Given the description of an element on the screen output the (x, y) to click on. 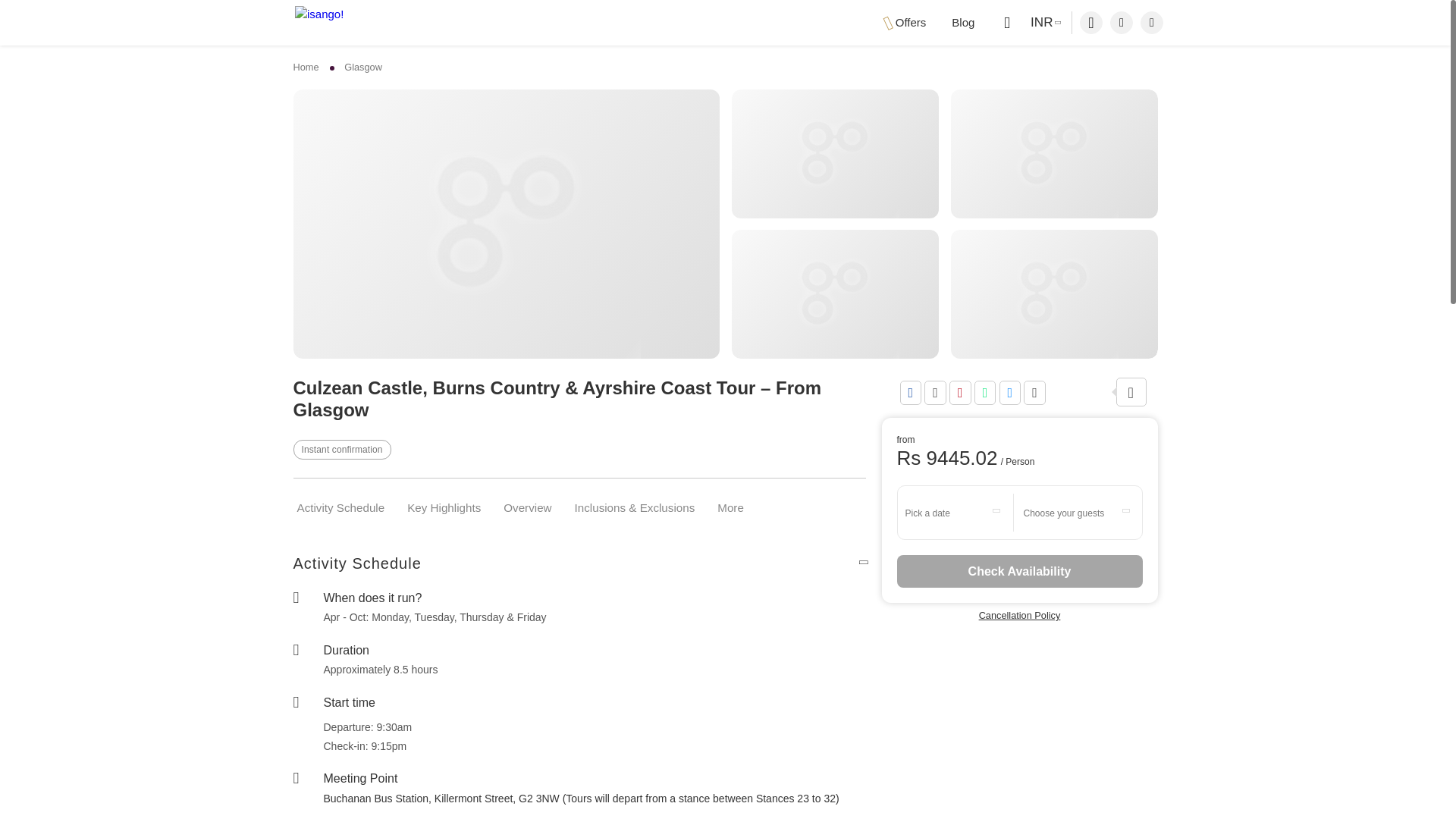
Check Availability (1018, 571)
Glasgow (363, 66)
Offers (905, 22)
Home (309, 66)
Blog (963, 22)
INR (1043, 22)
